Given the description of an element on the screen output the (x, y) to click on. 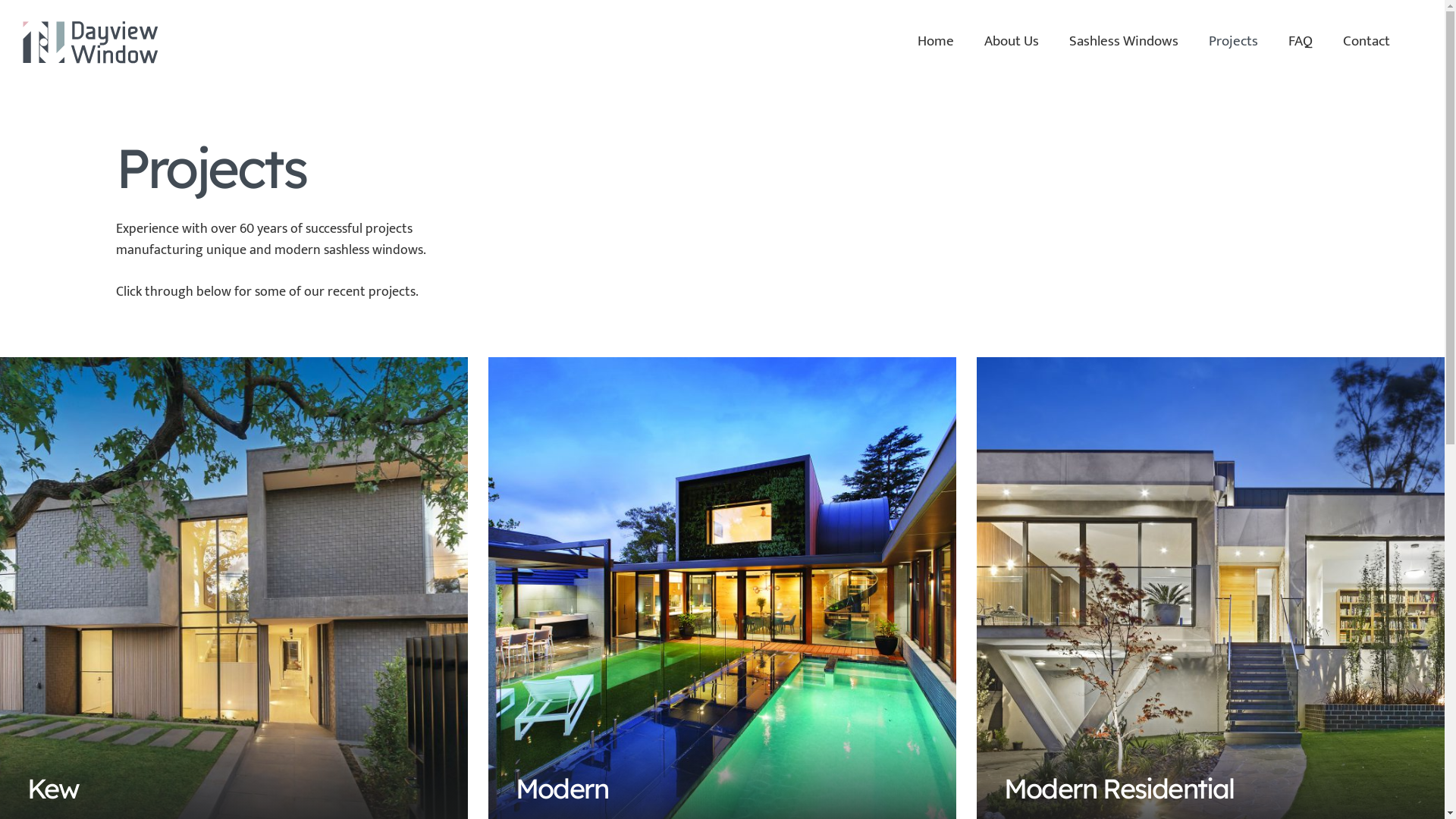
Home Element type: text (935, 41)
About Us Element type: text (1011, 41)
Projects Element type: text (1233, 41)
Sashless Windows Element type: text (1123, 41)
FAQ Element type: text (1300, 41)
Contact Element type: text (1366, 41)
